Given the description of an element on the screen output the (x, y) to click on. 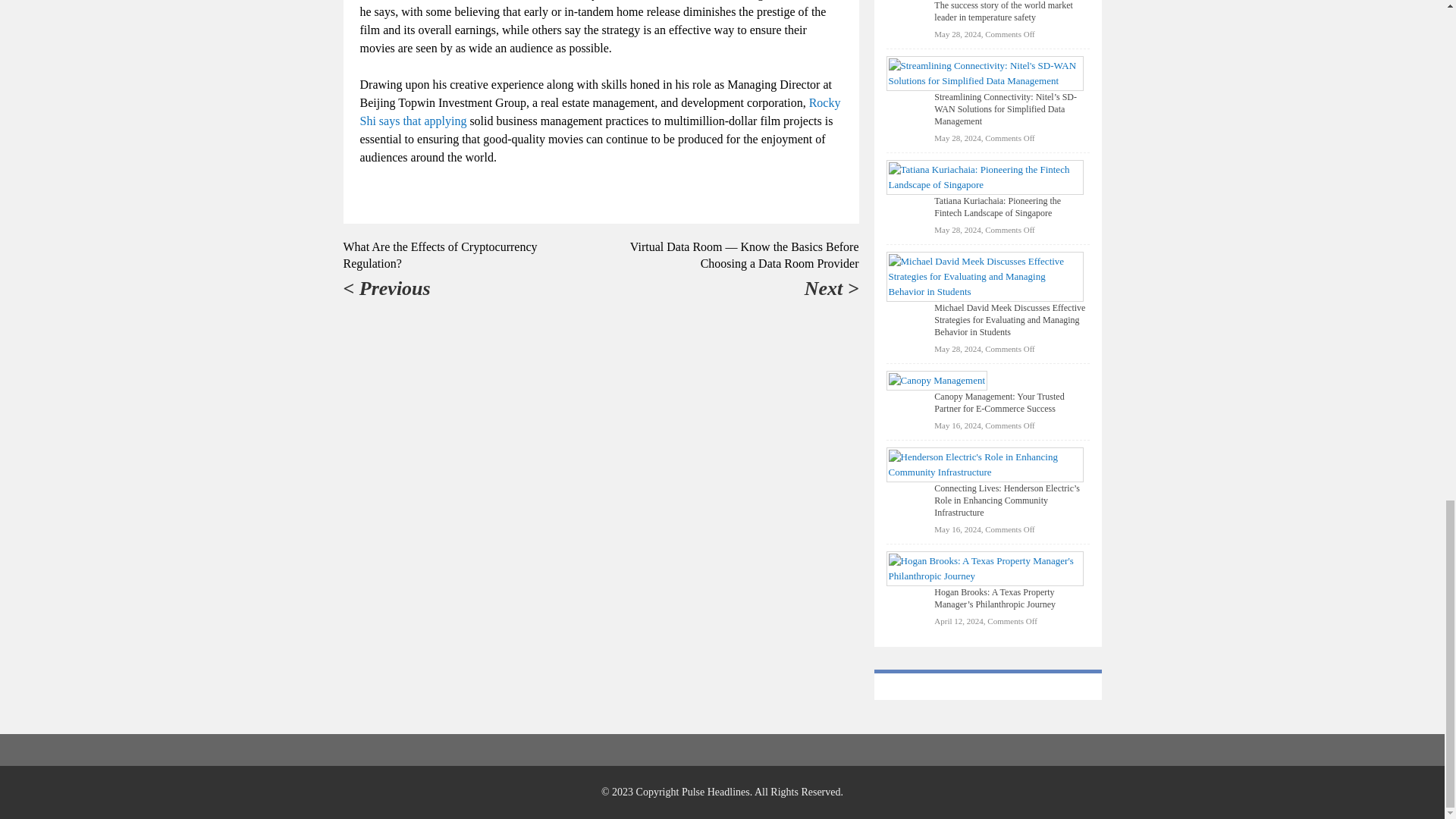
Rocky Shi says that applying (599, 111)
What Are the Effects of Cryptocurrency Regulation? (439, 255)
